Given the description of an element on the screen output the (x, y) to click on. 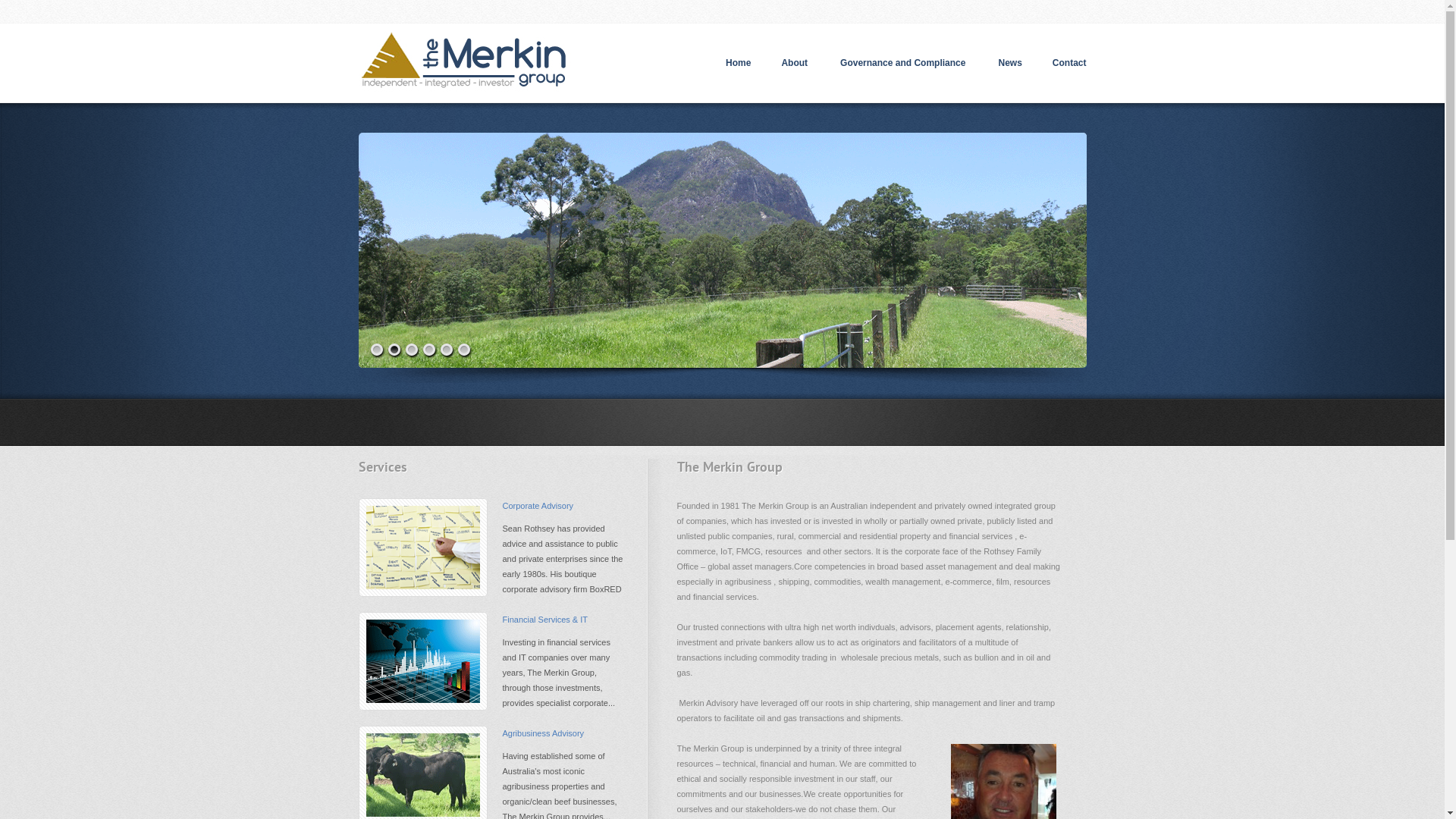
6 Element type: text (463, 351)
Governance and Compliance Element type: text (903, 63)
About Element type: text (795, 63)
Contact Element type: text (1069, 63)
Home Element type: text (737, 63)
5 Element type: text (447, 351)
Corporate Advisory Element type: text (537, 505)
1 Element type: text (377, 351)
Financial Services & IT Element type: text (544, 619)
4 Element type: text (428, 351)
News Element type: text (1009, 63)
Agribusiness Advisory Element type: text (542, 732)
2 Element type: text (393, 351)
3 Element type: text (412, 351)
